Given the description of an element on the screen output the (x, y) to click on. 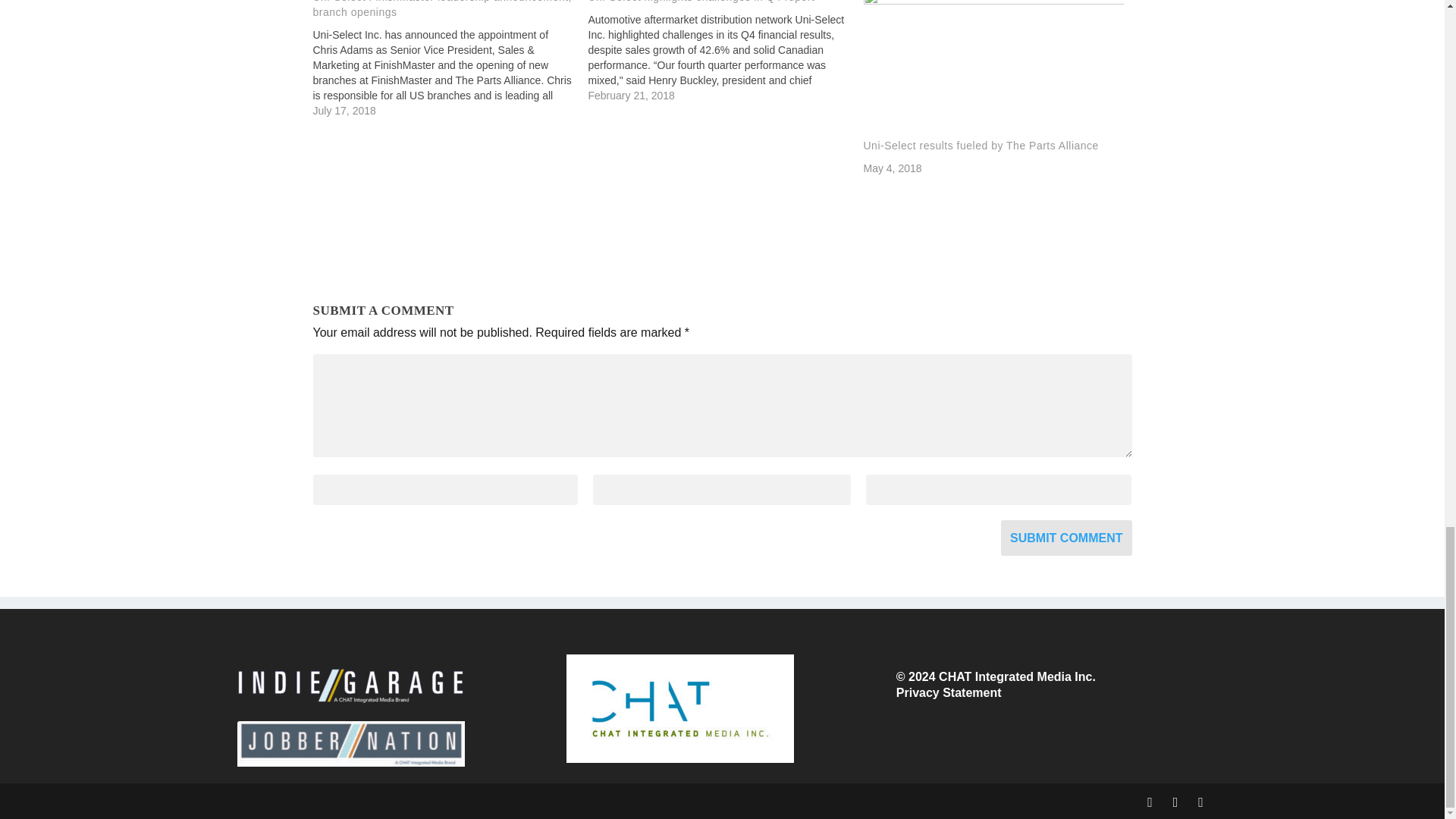
Uni-Select highlights challenges in Q4 report (701, 1)
Uni-Select results fueled by The Parts Alliance (992, 69)
Uni-Select highlights challenges in Q4 report (725, 51)
Uni-Select results fueled by The Parts Alliance (980, 145)
SUBMIT COMMENT (1066, 538)
Uni-Select highlights challenges in Q4 report (701, 1)
Uni-Select results fueled by The Parts Alliance (980, 145)
